Given the description of an element on the screen output the (x, y) to click on. 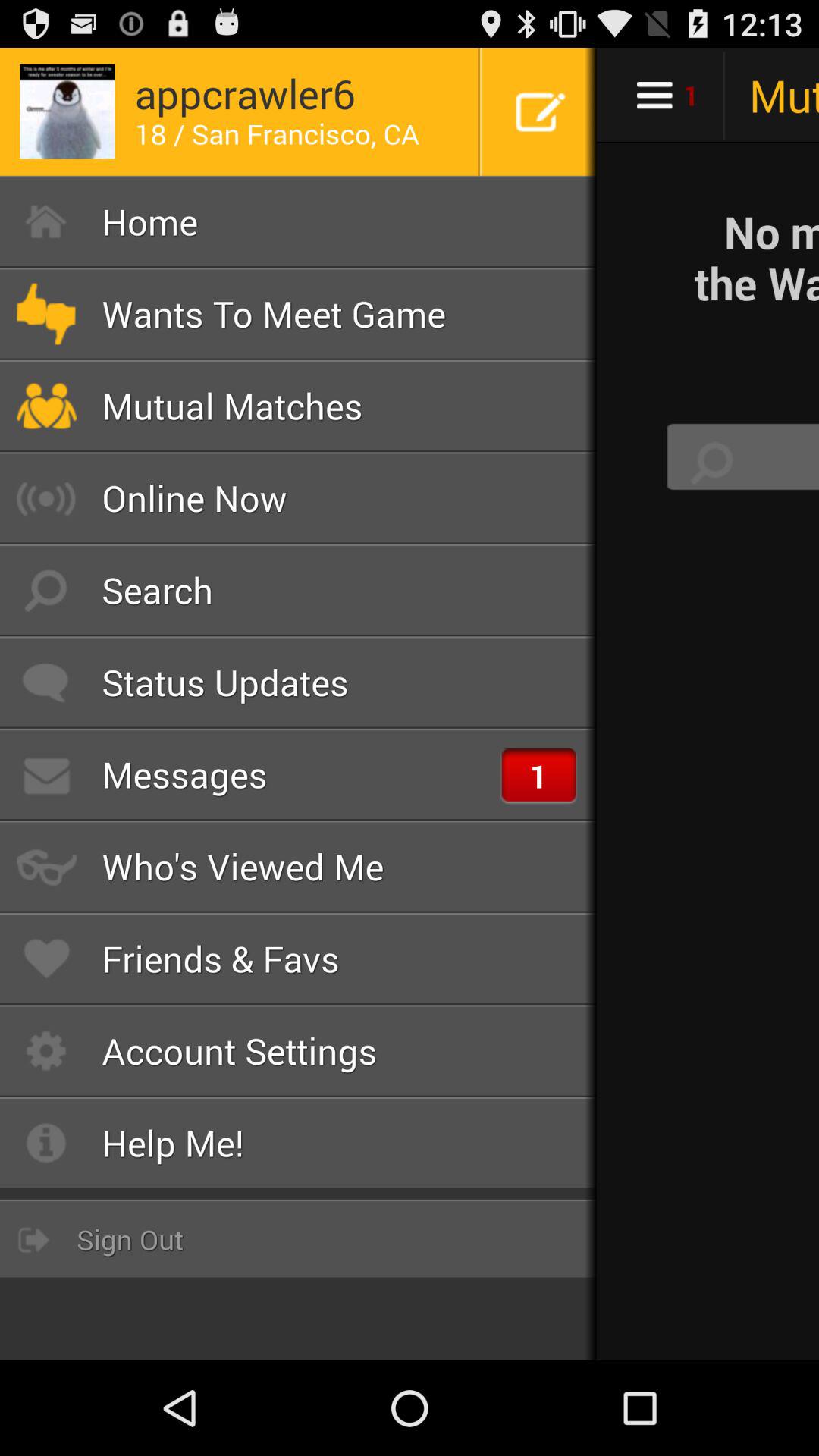
click search button (711, 462)
click the image left side of appcrawler6 (67, 111)
